Given the description of an element on the screen output the (x, y) to click on. 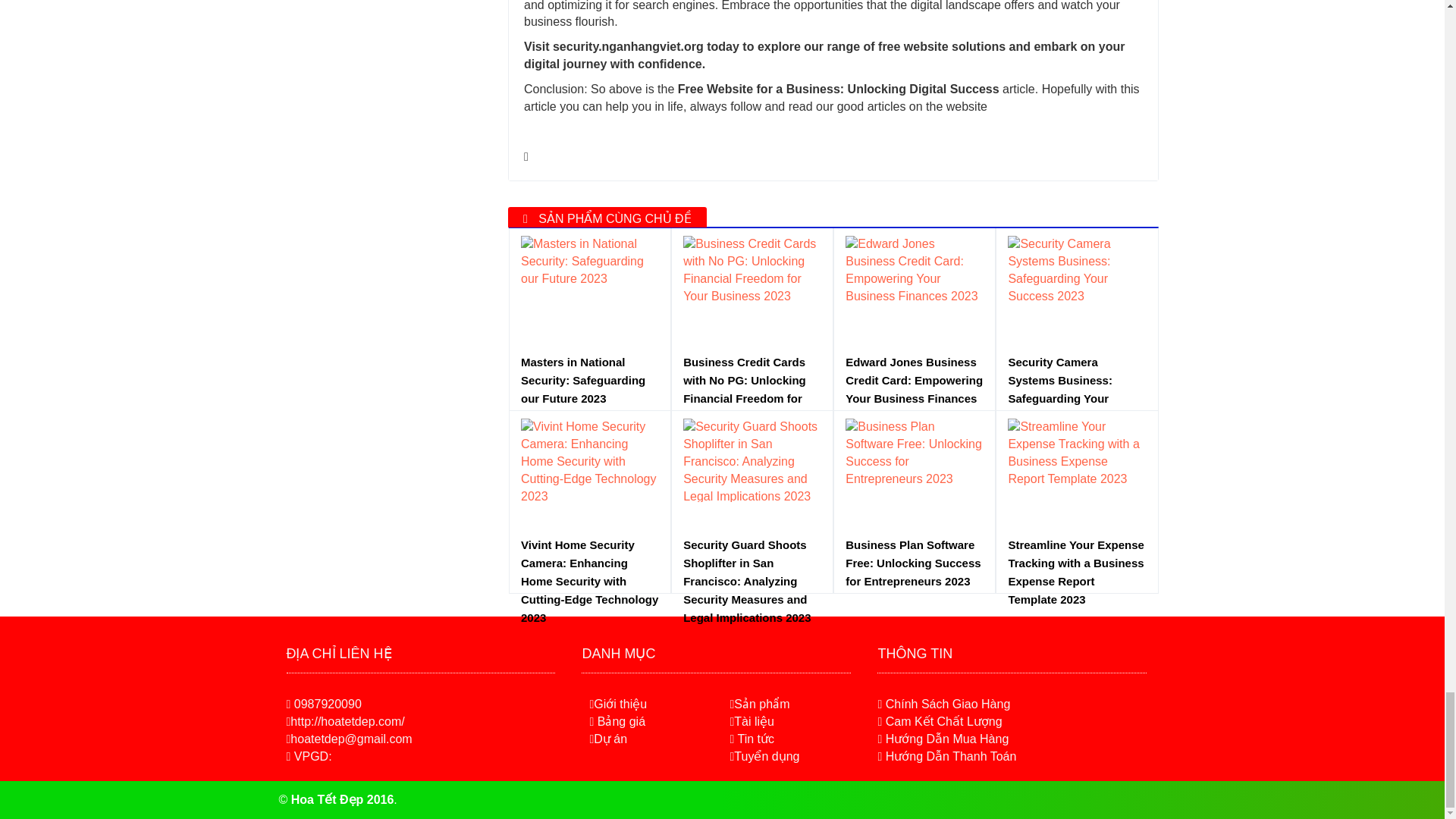
Masters in National Security: Safeguarding our Future 2023 (590, 379)
